Given the description of an element on the screen output the (x, y) to click on. 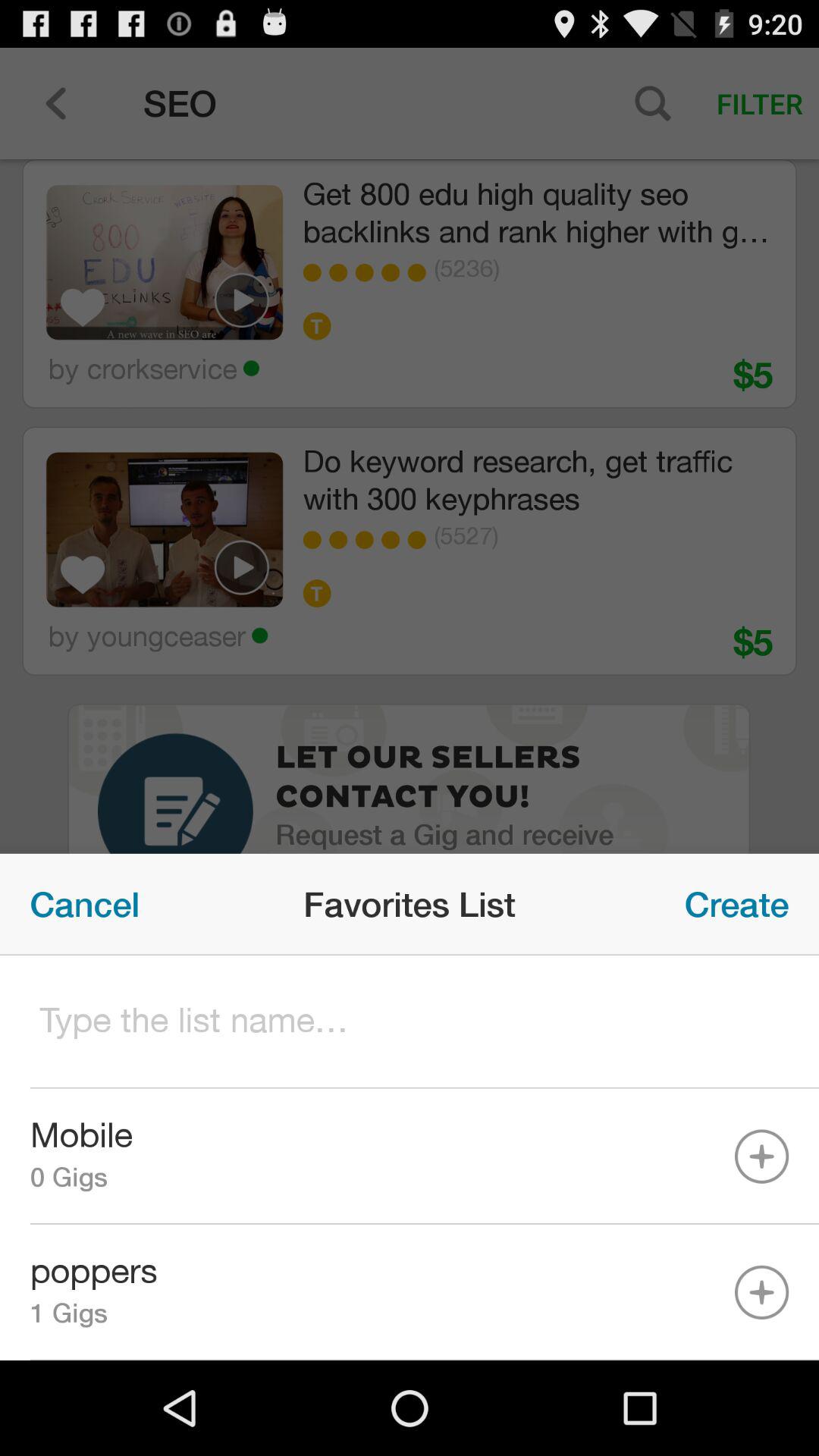
open the cancel icon (84, 903)
